Given the description of an element on the screen output the (x, y) to click on. 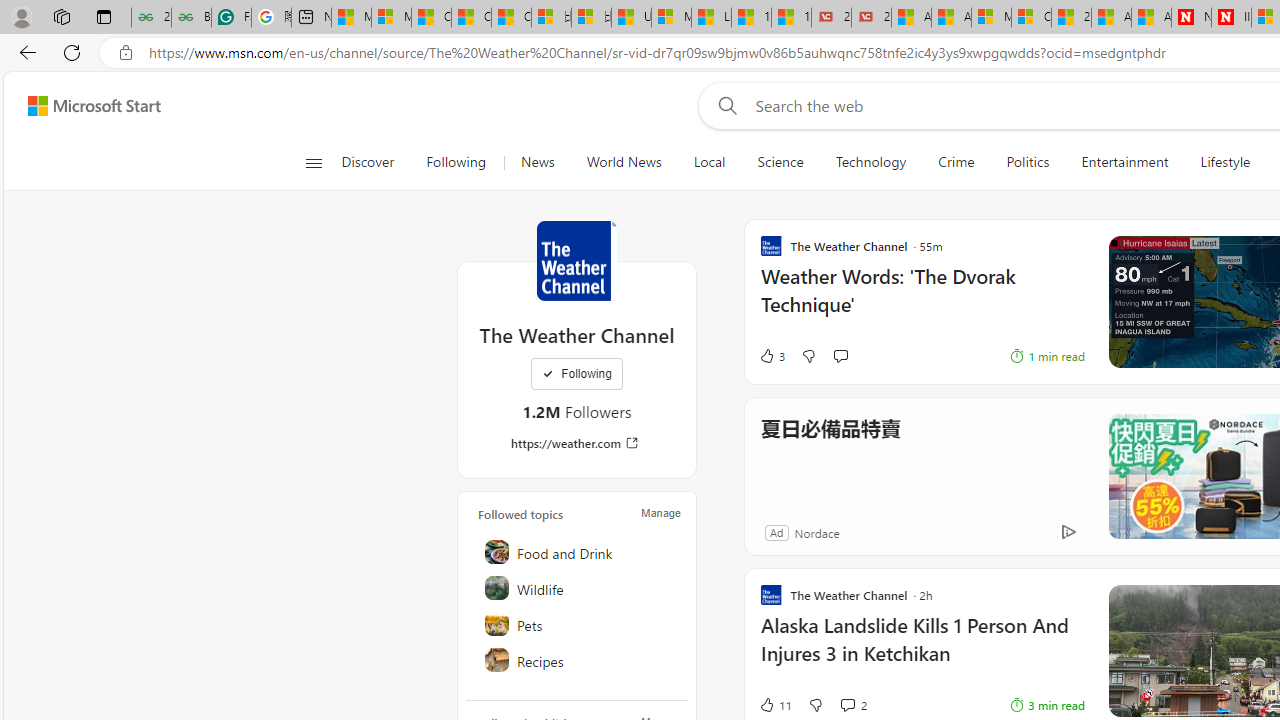
The Weather Channel (576, 260)
